Given the description of an element on the screen output the (x, y) to click on. 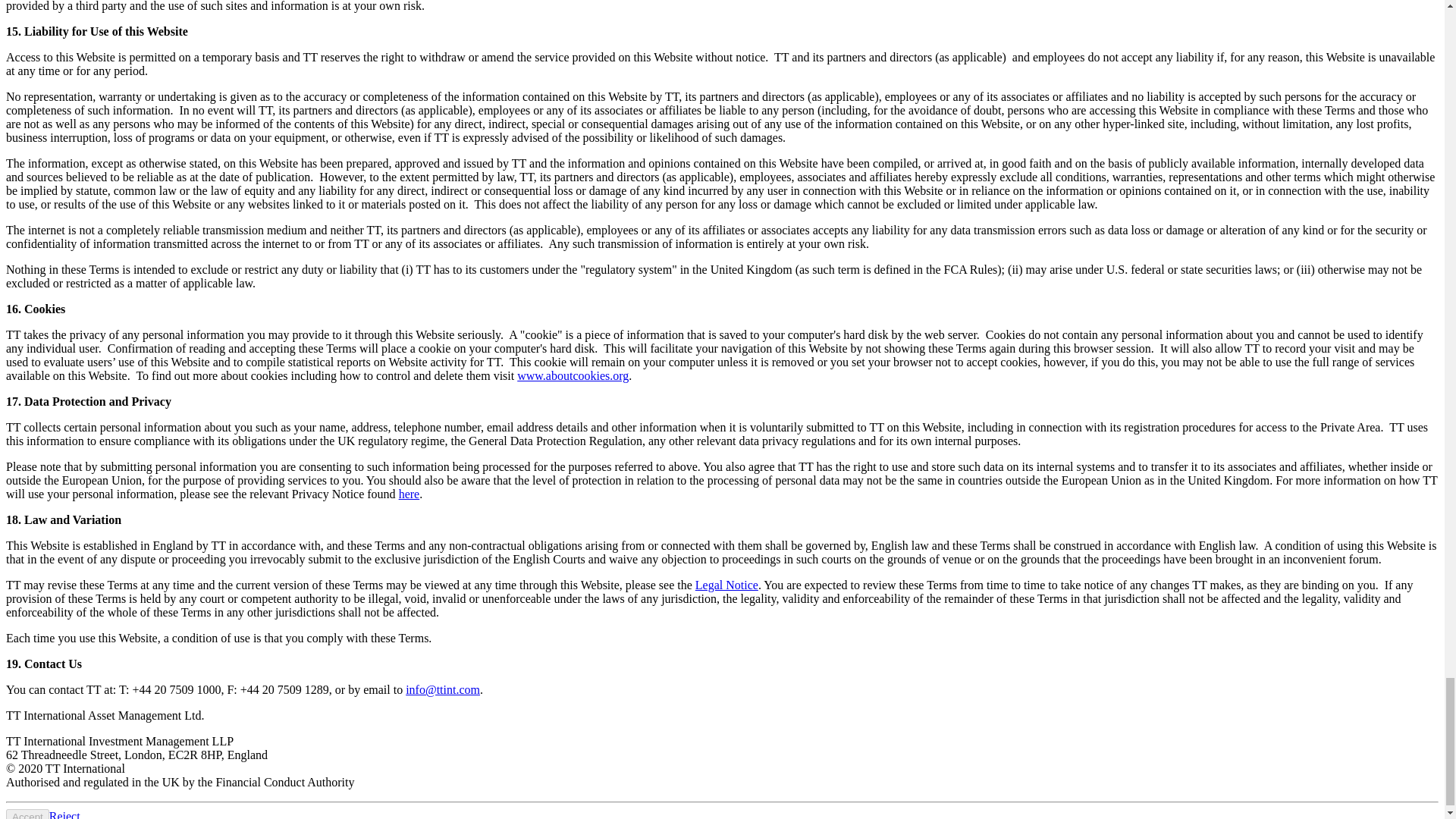
www.aboutcookies.org (572, 375)
Legal Notice (726, 584)
here (409, 493)
